Given the description of an element on the screen output the (x, y) to click on. 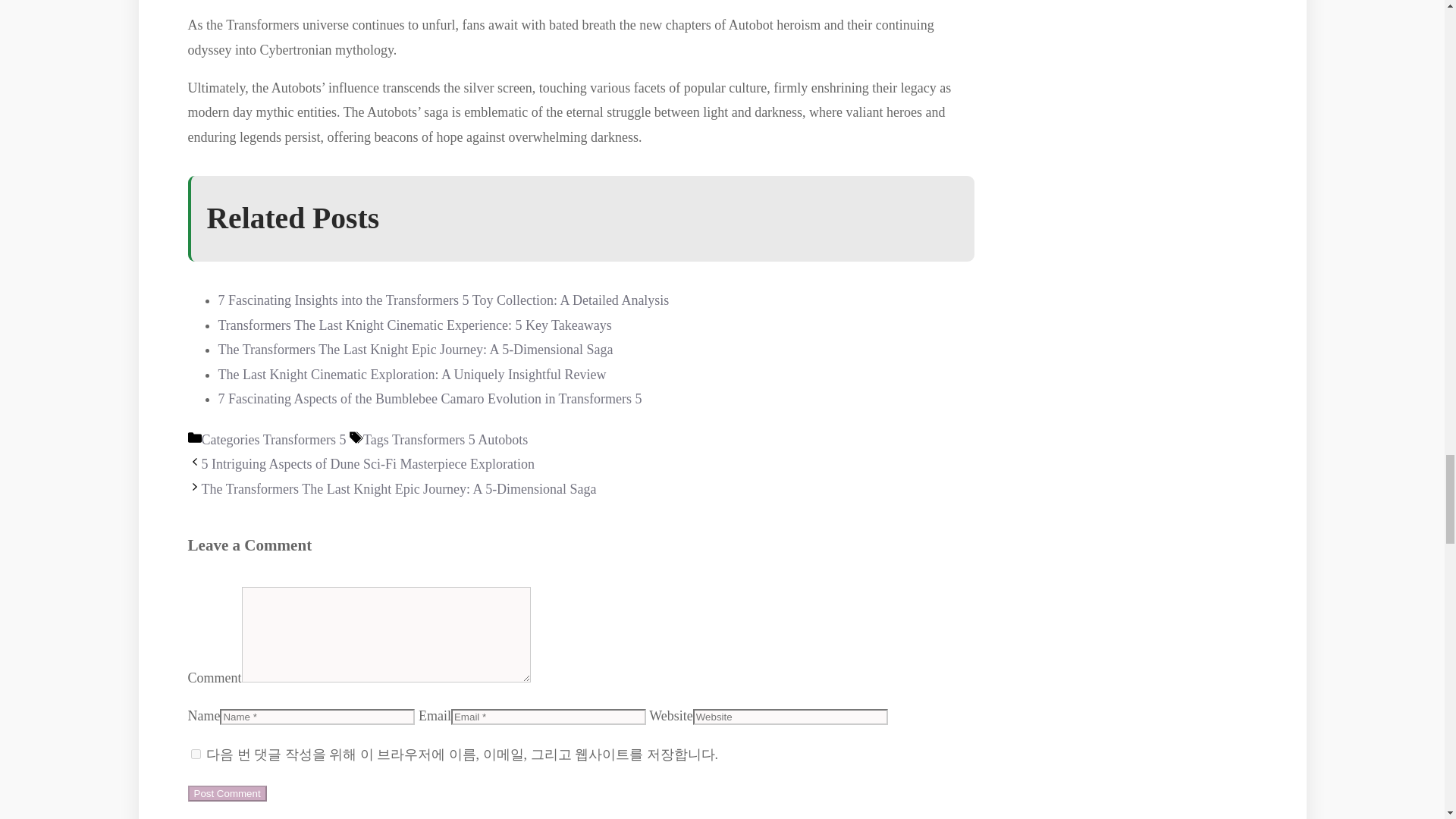
Transformers 5 (304, 439)
Post Comment (226, 793)
5 Intriguing Aspects of Dune Sci-Fi Masterpiece Exploration (368, 463)
yes (195, 754)
Transformers 5 Autobots (459, 439)
